Given the description of an element on the screen output the (x, y) to click on. 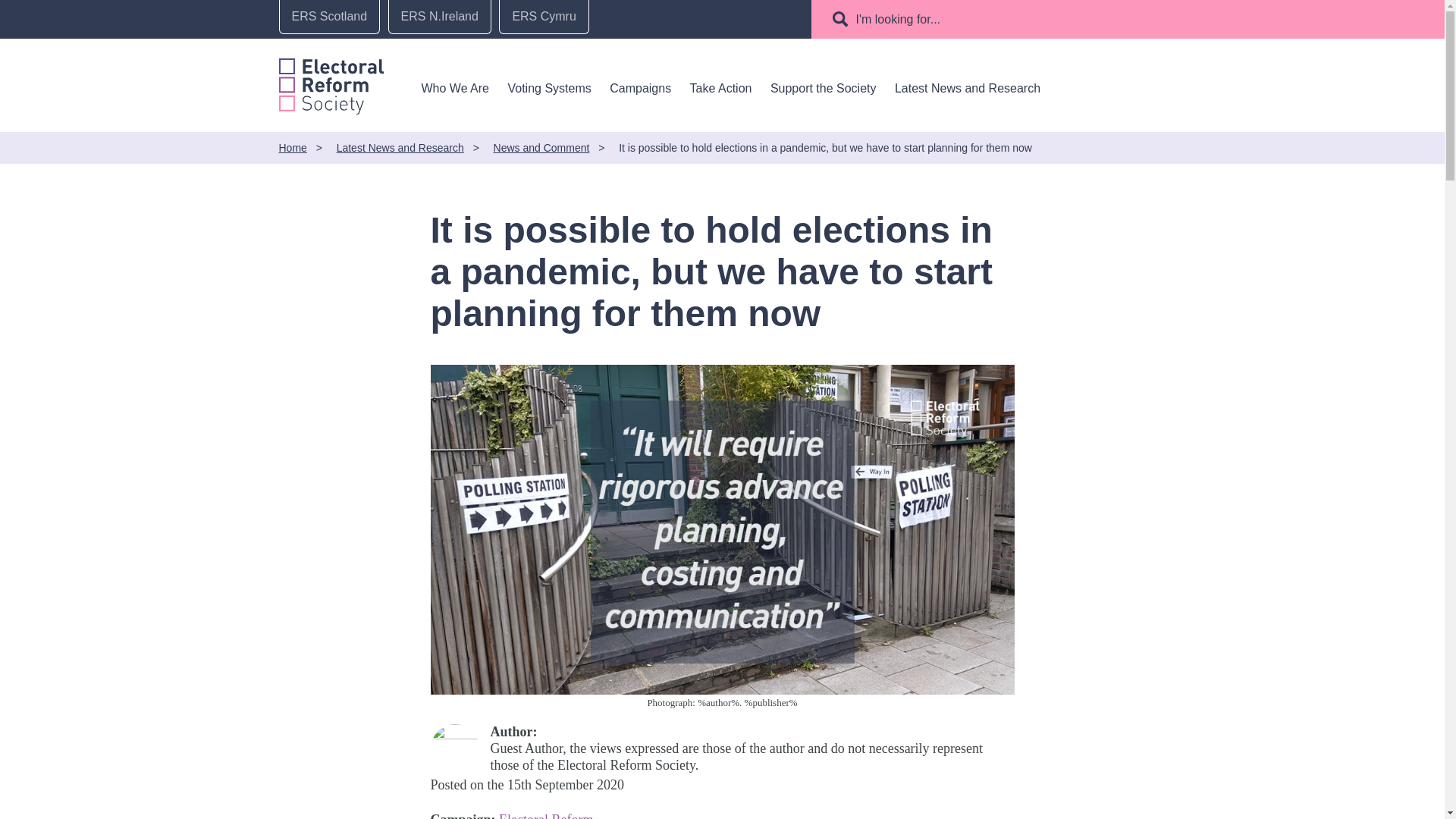
Campaigns (640, 88)
Voting Systems (548, 88)
Latest News and Research (968, 88)
Take Action (721, 88)
ERS N.Ireland (440, 17)
ERS Cymru (543, 17)
Who We Are (455, 88)
I'm looking for... (899, 19)
ERS Scotland (329, 17)
Support the Society (823, 88)
